Given the description of an element on the screen output the (x, y) to click on. 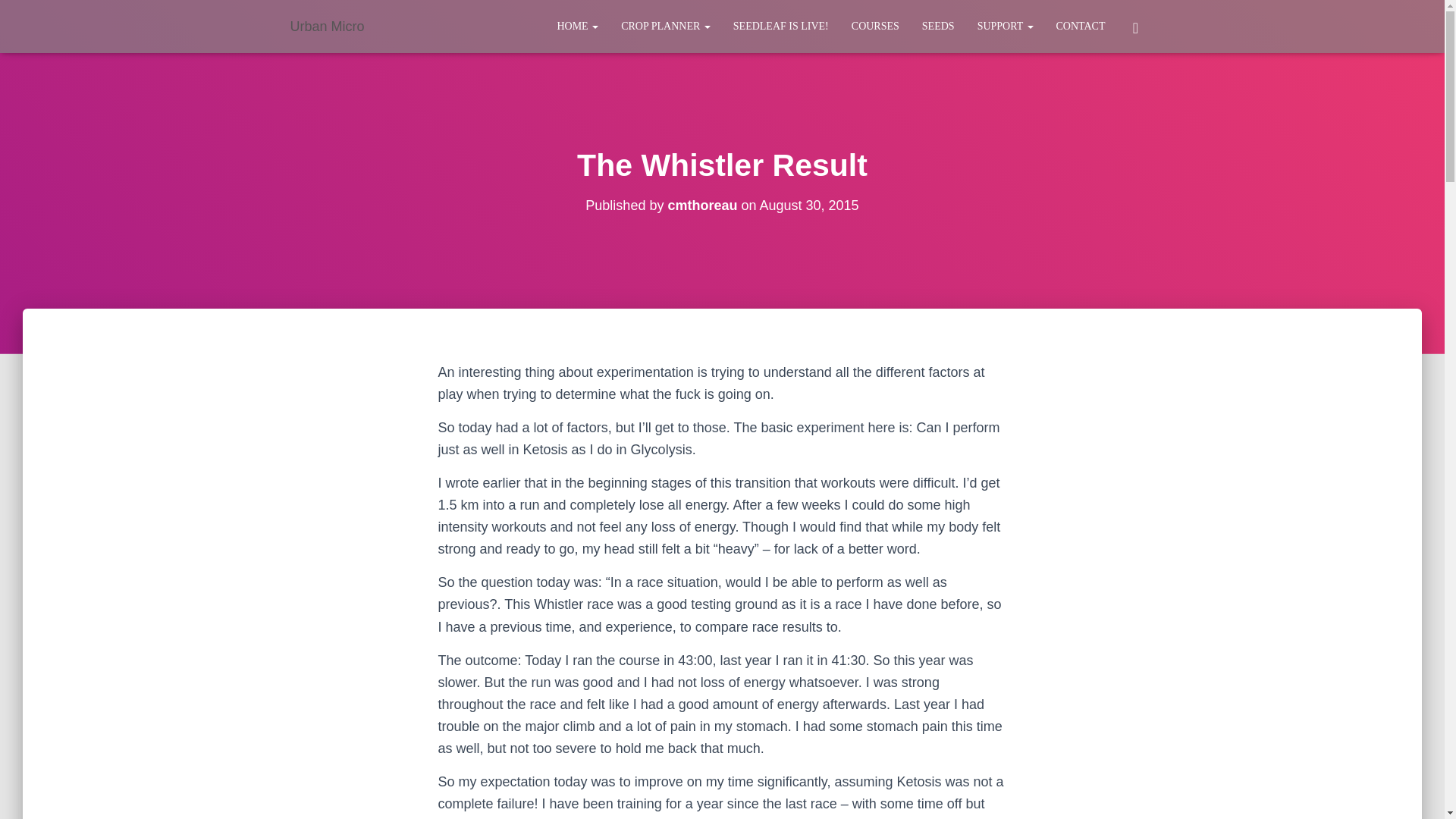
Courses (875, 26)
COURSES (875, 26)
Seeds (938, 26)
cmthoreau (701, 205)
Urban Micro (327, 26)
SEEDS (938, 26)
Crop Planner (666, 26)
CROP PLANNER (666, 26)
HOME (577, 26)
CONTACT (1080, 26)
